Given the description of an element on the screen output the (x, y) to click on. 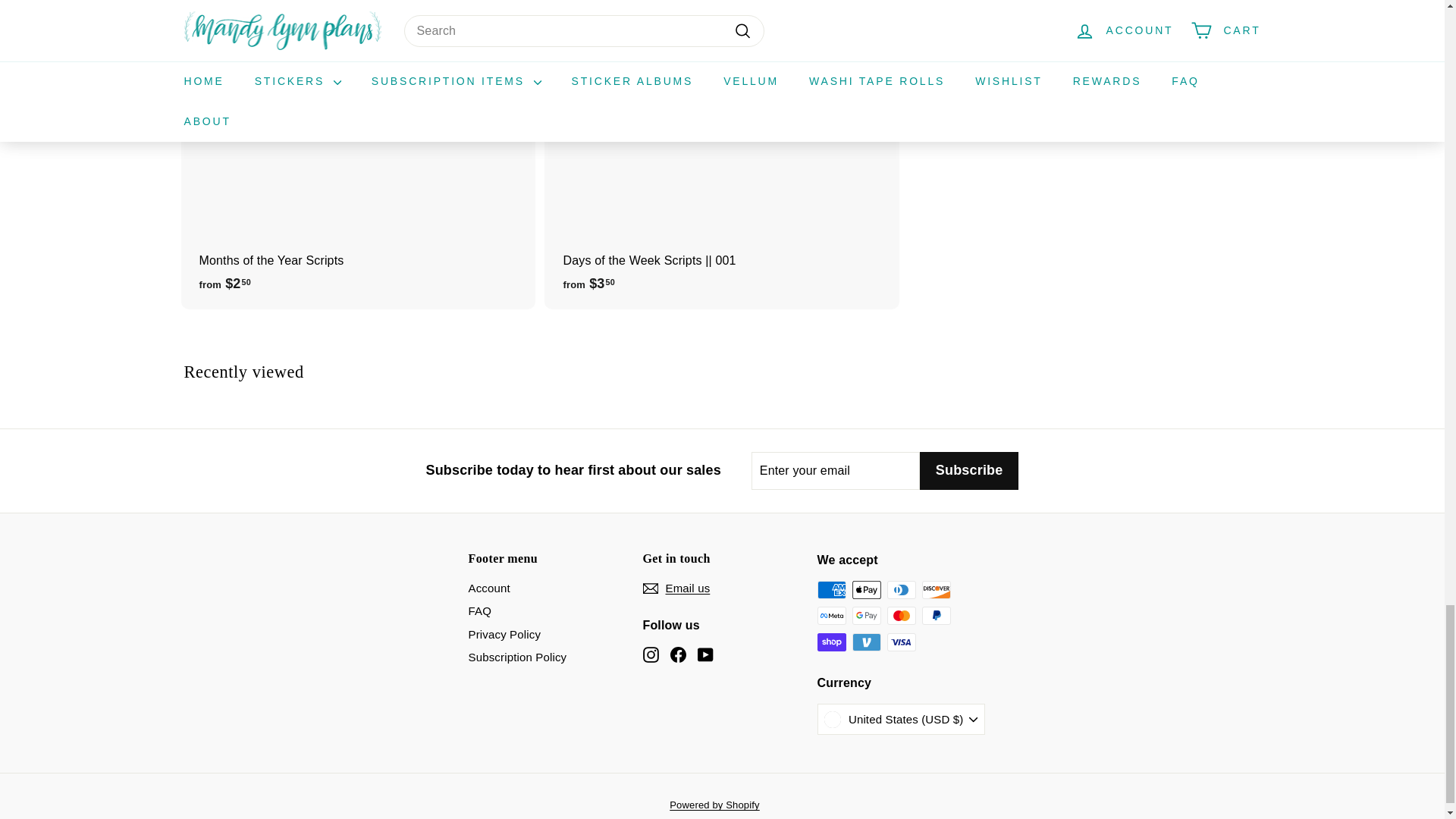
Mandy Lynn Plans on YouTube (705, 654)
American Express (830, 589)
Apple Pay (865, 589)
Mandy Lynn Plans on Facebook (677, 654)
Mandy Lynn Plans on Instagram (651, 654)
instagram (651, 654)
